Given the description of an element on the screen output the (x, y) to click on. 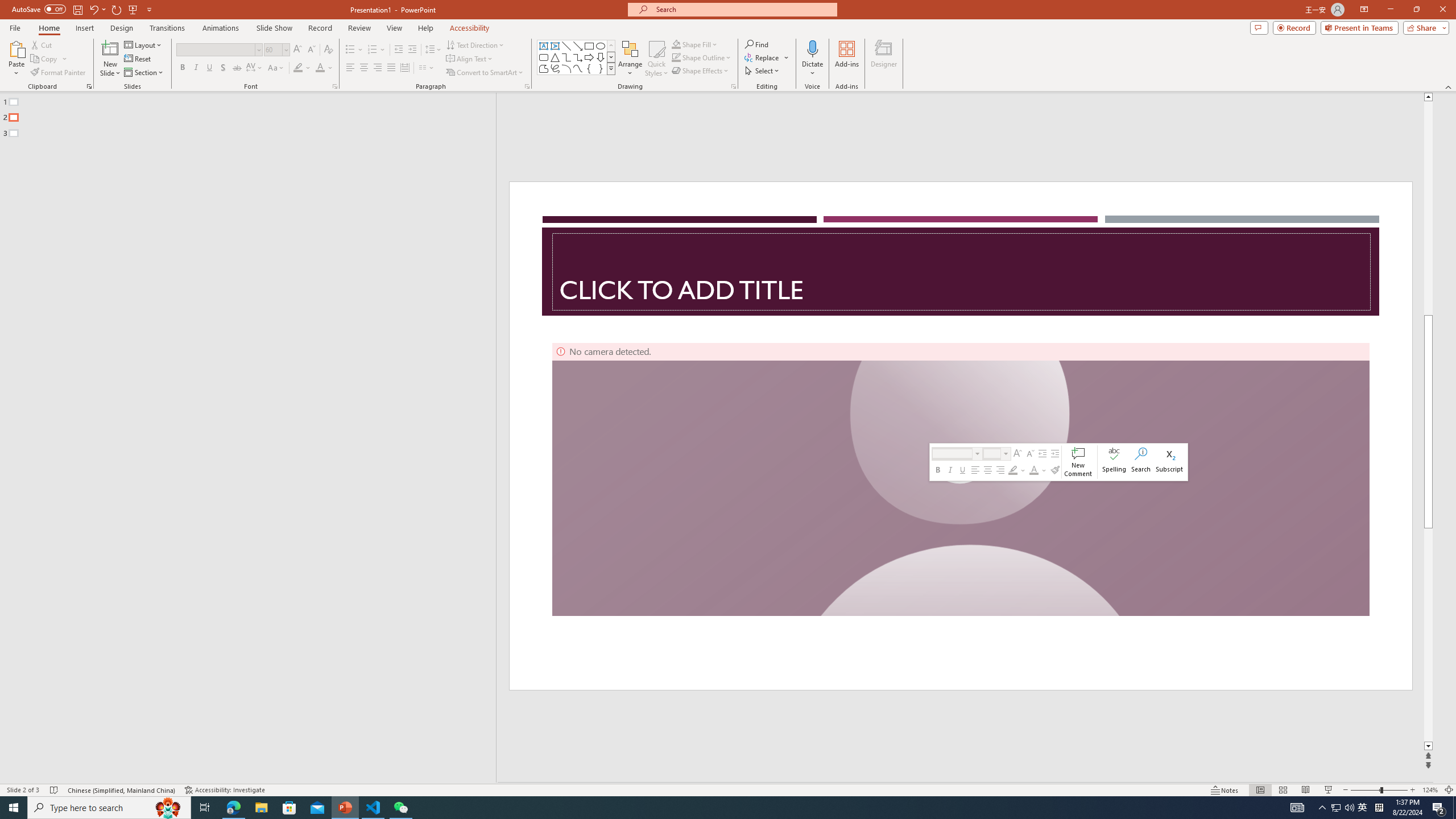
Outline (252, 114)
Spelling... (1113, 462)
